Given the description of an element on the screen output the (x, y) to click on. 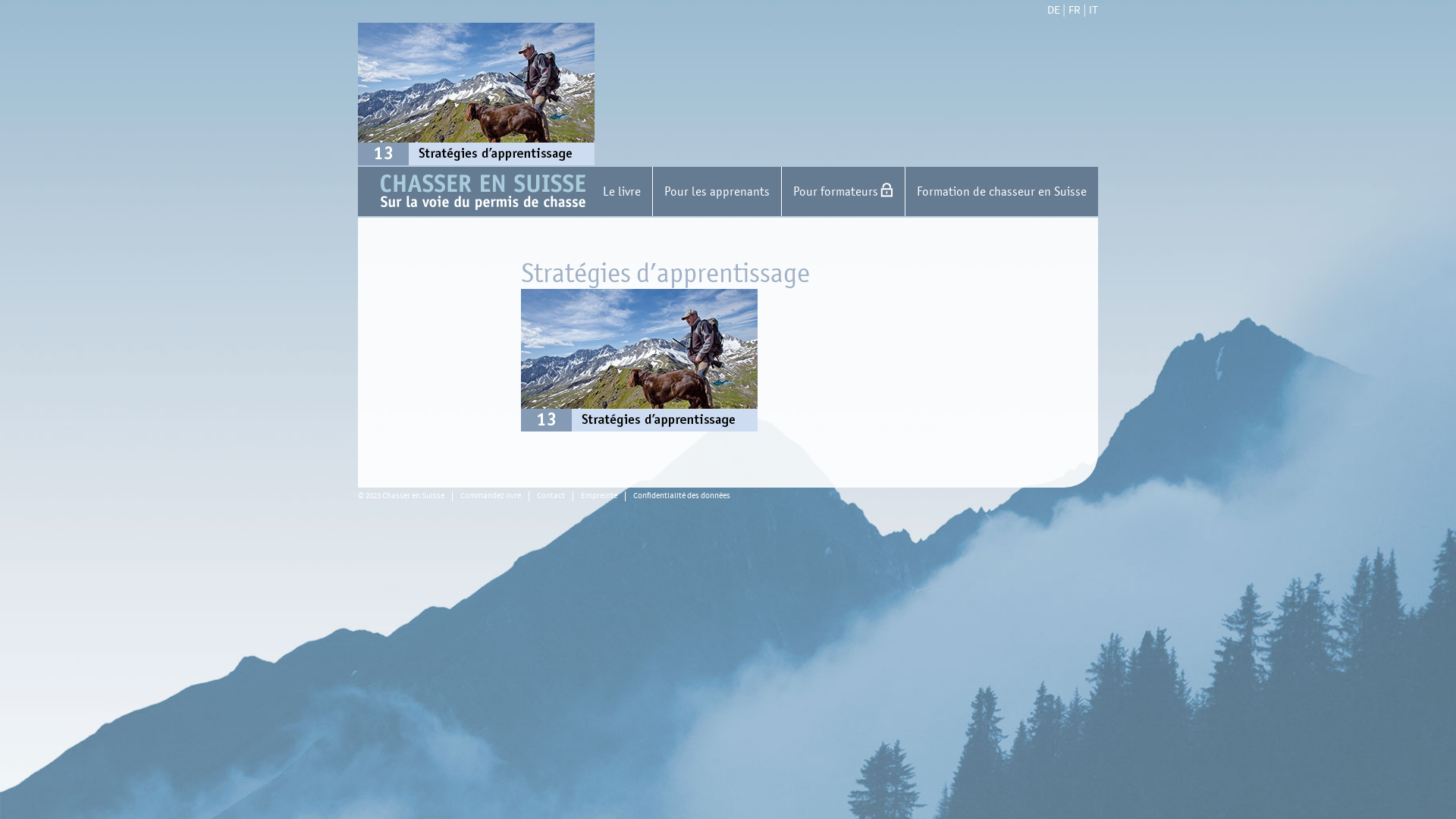
DE Element type: text (1053, 10)
FR Element type: text (1074, 10)
Contact Element type: text (550, 496)
IT Element type: text (1093, 10)
Le livre Element type: text (621, 191)
Formation de chasseur en Suisse Element type: text (1001, 191)
Pour formateurs Element type: text (842, 191)
Pour les apprenants Element type: text (716, 191)
Empreinte Element type: text (598, 496)
Commandez livre Element type: text (490, 496)
Chasser en Suisse Element type: hover (739, 192)
